Given the description of an element on the screen output the (x, y) to click on. 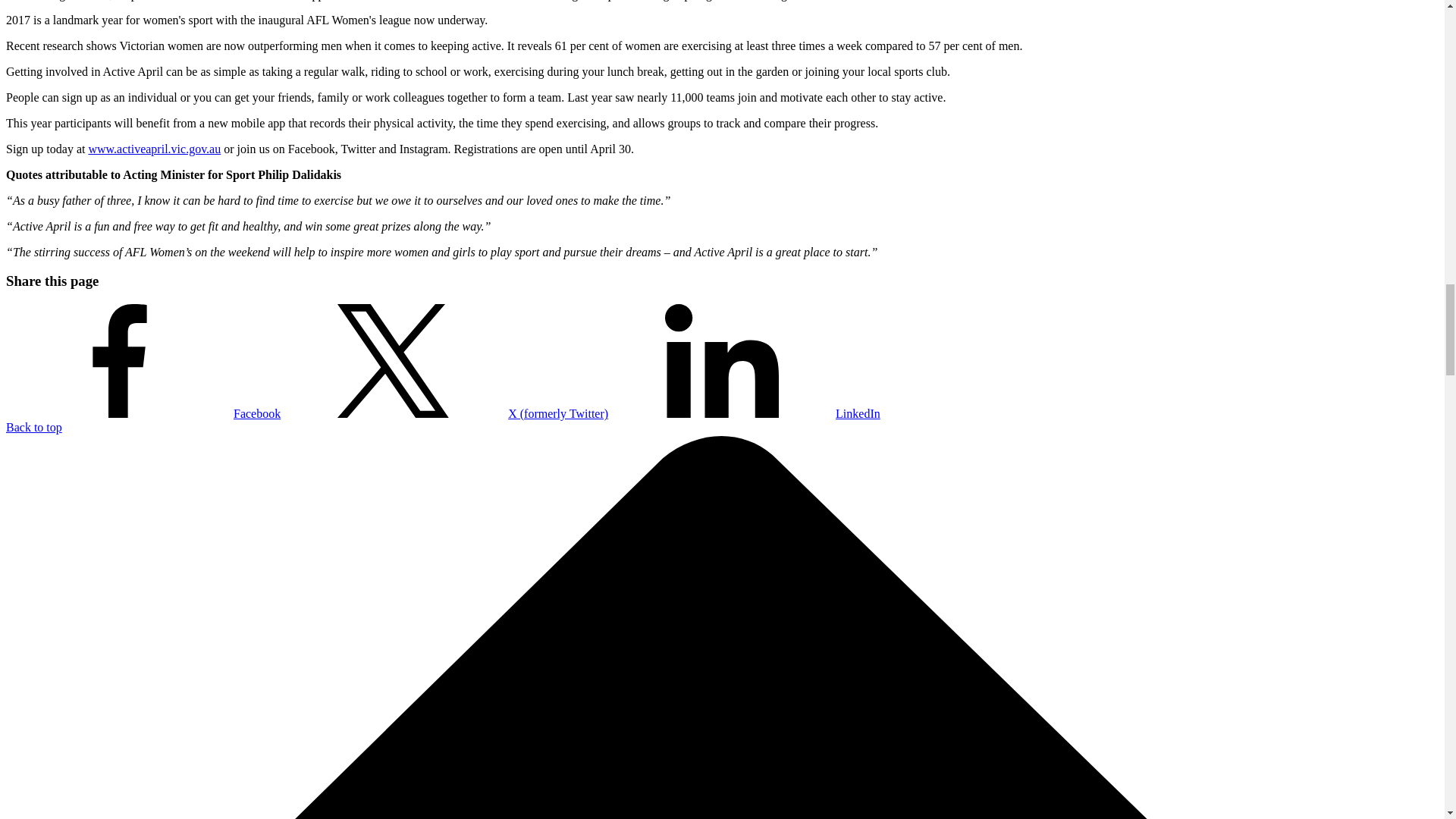
Facebook (143, 413)
LinkedIn (744, 413)
www.activeapril.vic.gov.au (154, 148)
